Given the description of an element on the screen output the (x, y) to click on. 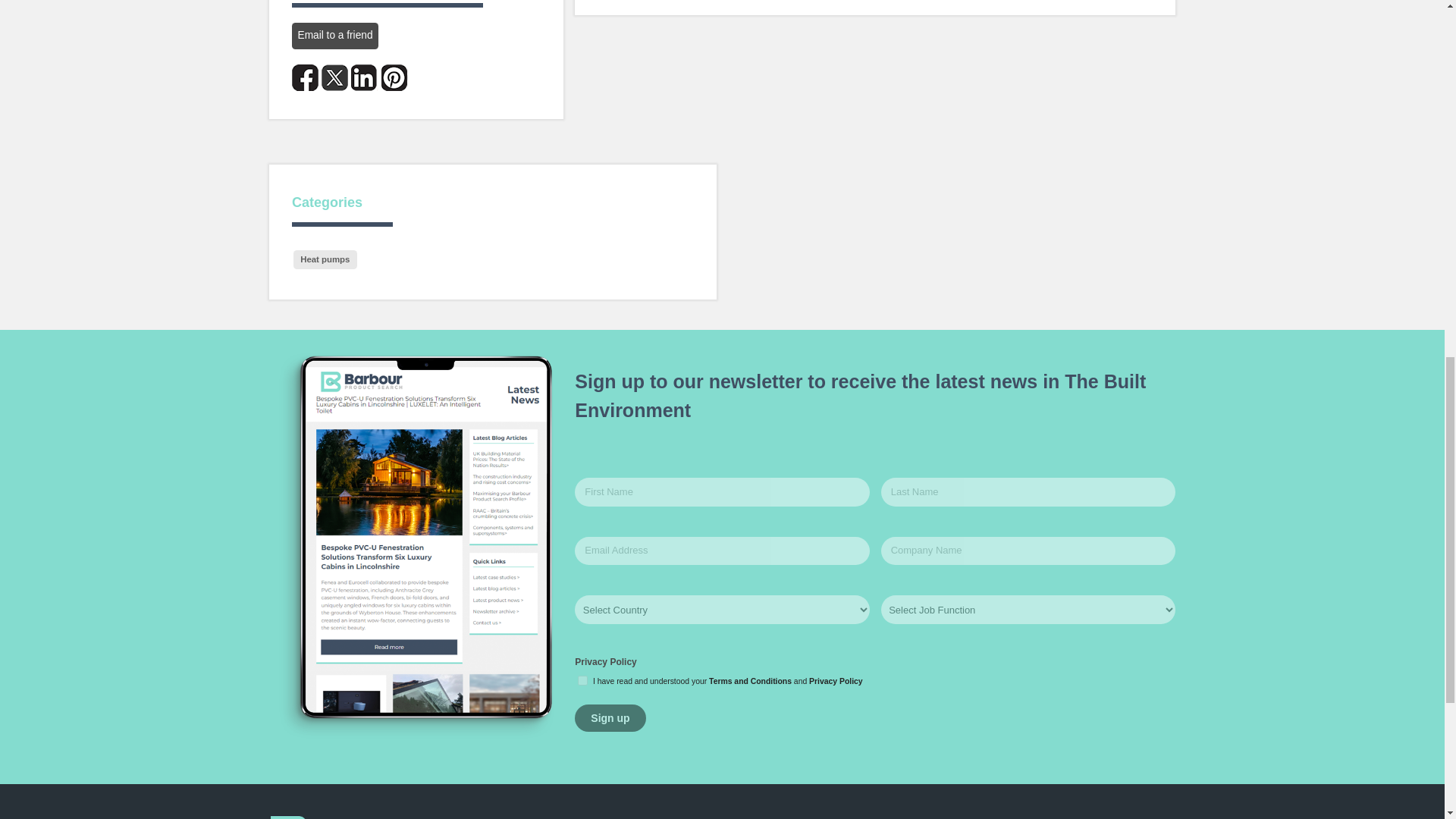
Share on Pinterest (394, 77)
Sign up (610, 718)
Share on Twitter (334, 77)
Share on LinkedIn (363, 77)
Share on Facebook (305, 77)
